Given the description of an element on the screen output the (x, y) to click on. 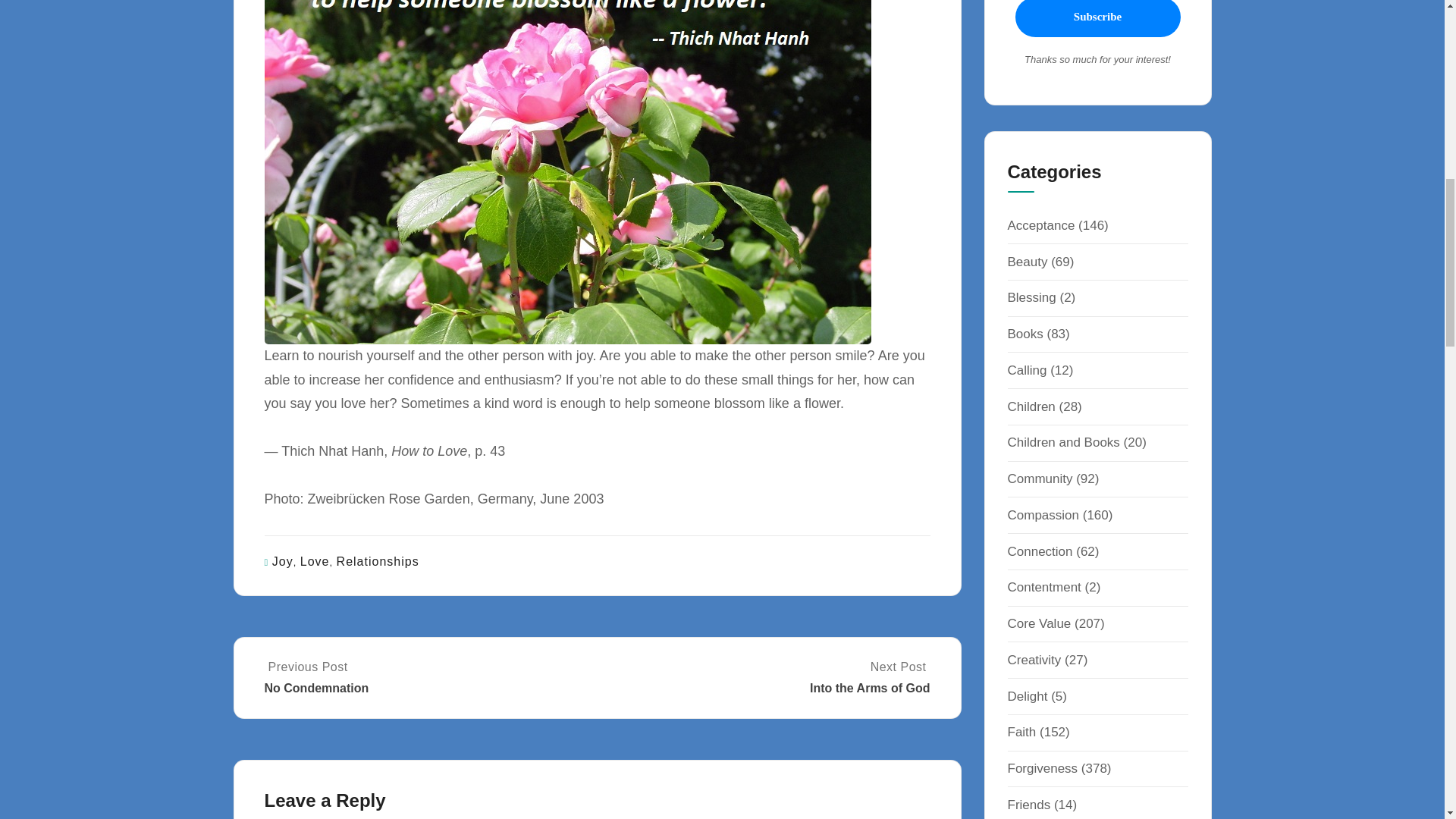
Faith (1021, 731)
Books (1024, 333)
Delight (1026, 696)
Blessing (1031, 297)
Forgiveness (1042, 768)
Creativity (427, 677)
Core Value (1034, 659)
Compassion (1038, 623)
Subscribe (1042, 514)
